Given the description of an element on the screen output the (x, y) to click on. 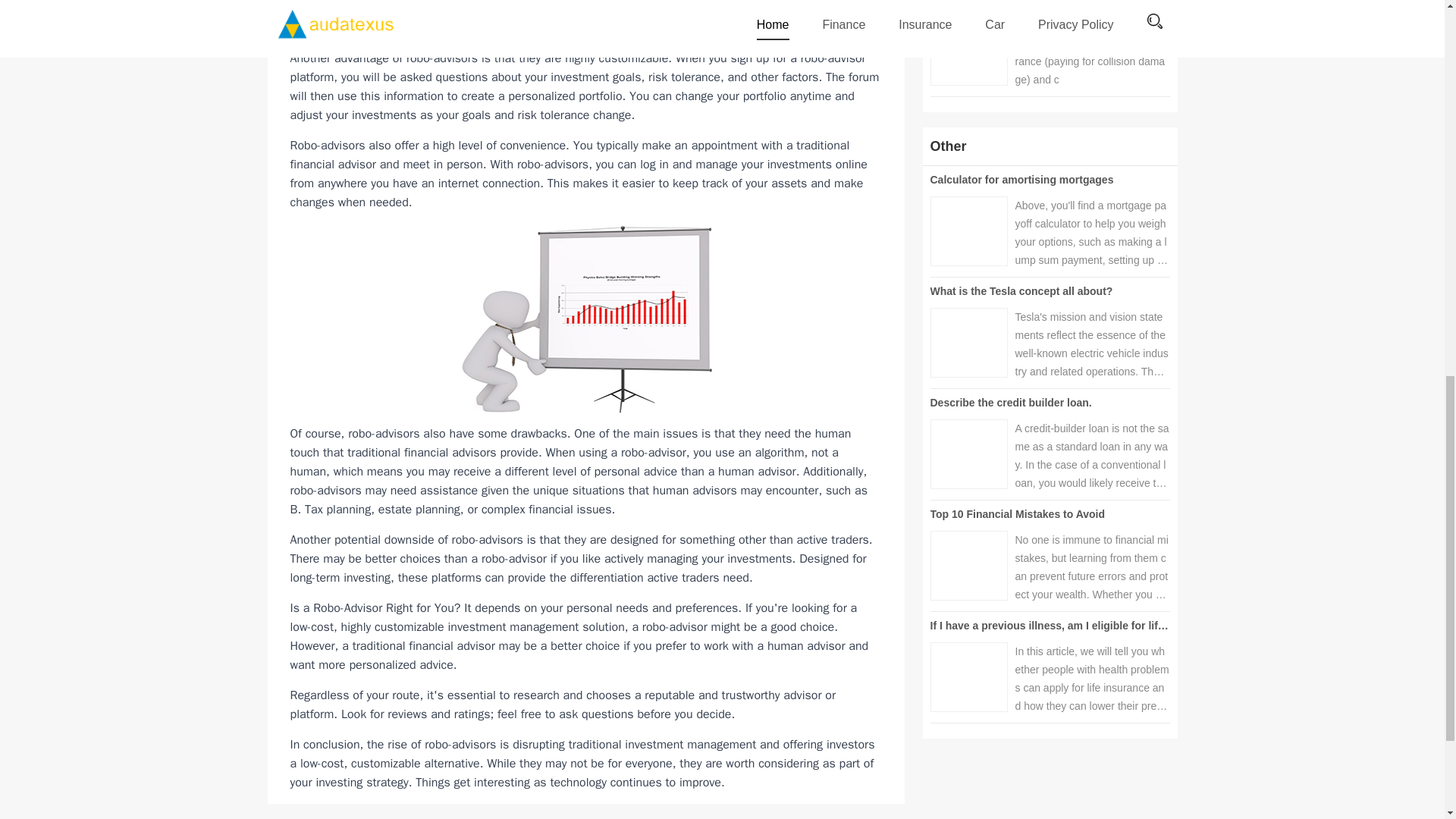
Calculator for amortising mortgages (1021, 179)
Some Savings in Car Insurance You Should Know (1055, 2)
What is the Tesla concept all about? (1021, 291)
Describe the credit builder loan. (1010, 402)
Top 10 Financial Mistakes to Avoid (1017, 513)
